Given the description of an element on the screen output the (x, y) to click on. 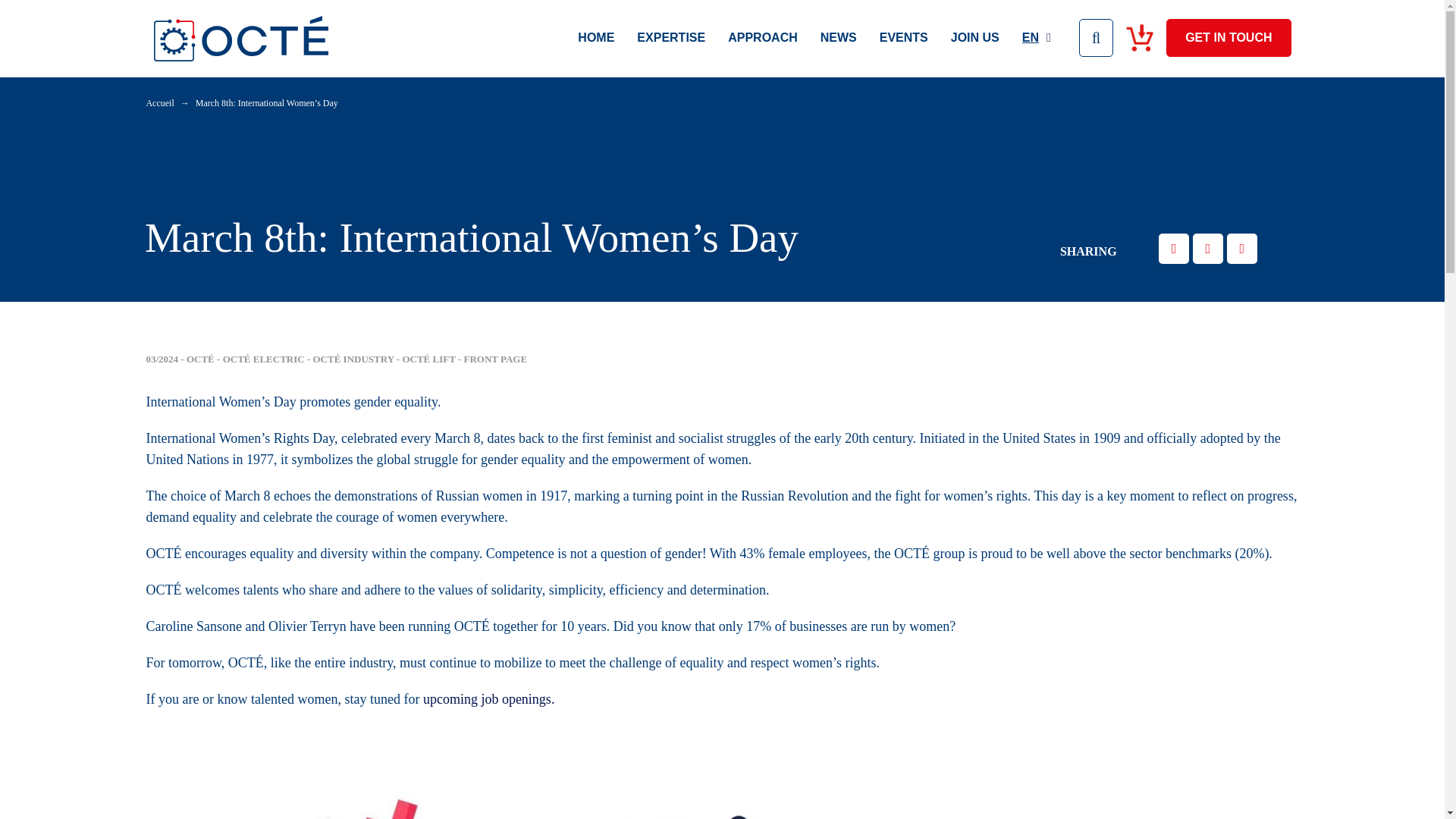
APPROACH (762, 37)
Search (1095, 37)
EXPERTISE (670, 37)
GET IN TOUCH (1228, 37)
